Given the description of an element on the screen output the (x, y) to click on. 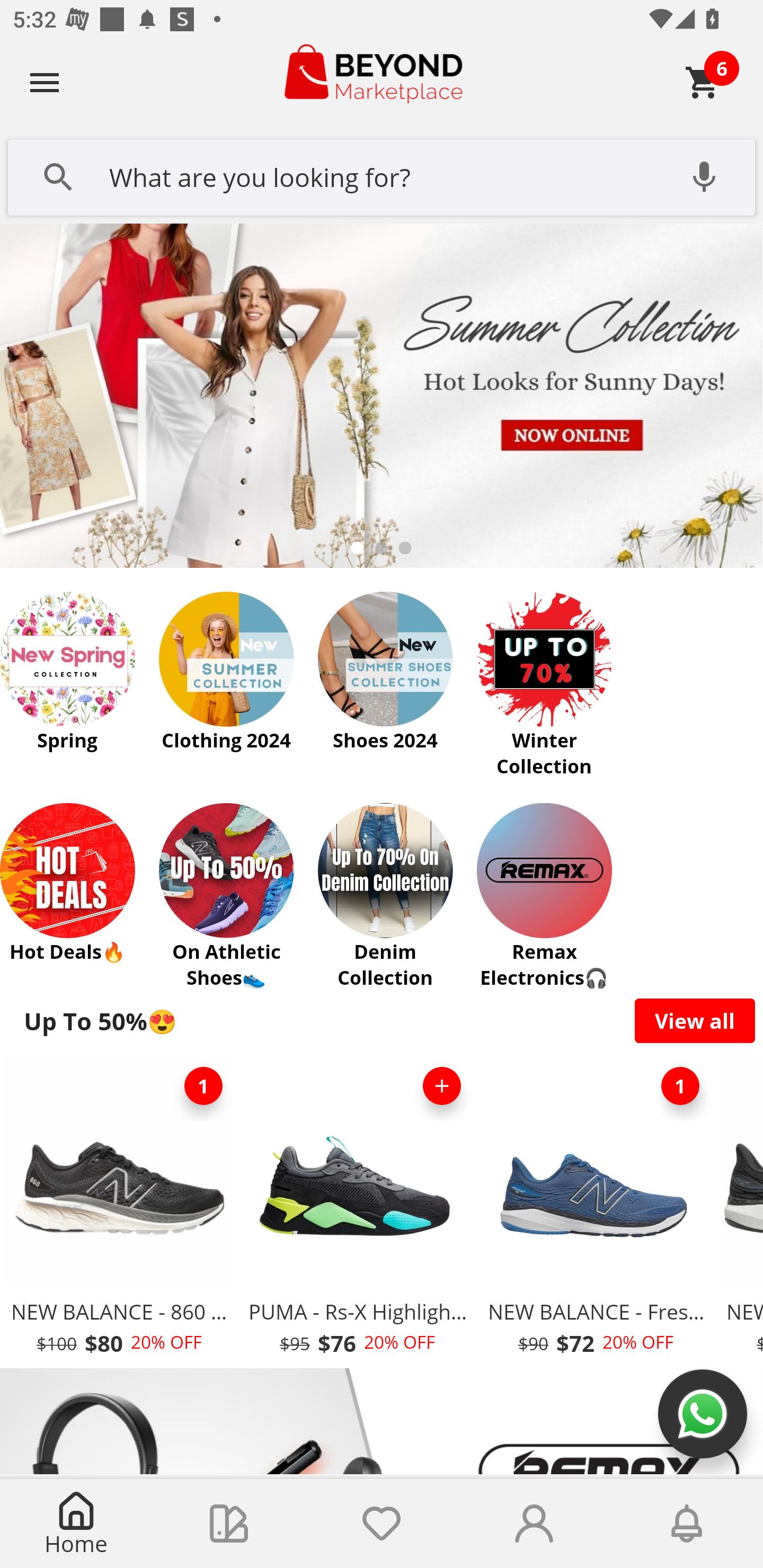
Navigate up (44, 82)
What are you looking for? (381, 175)
View all (694, 1020)
1 NEW BALANCE - 860 Running Shoes $100 $80 20% OFF (119, 1209)
1 (203, 1085)
1 (680, 1085)
Collections (228, 1523)
Wishlist (381, 1523)
Account (533, 1523)
Notifications (686, 1523)
